Given the description of an element on the screen output the (x, y) to click on. 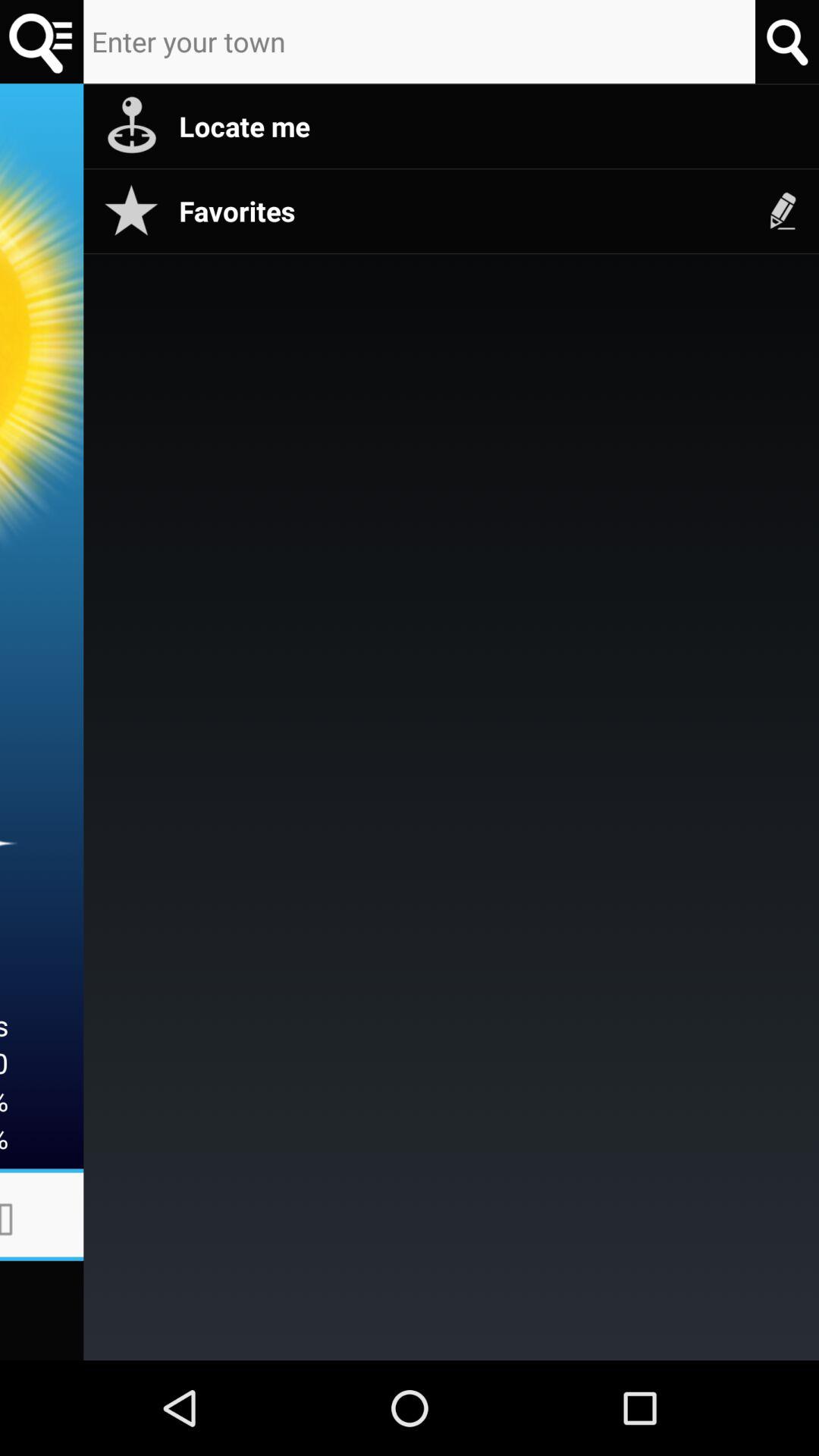
search for location (787, 41)
